Given the description of an element on the screen output the (x, y) to click on. 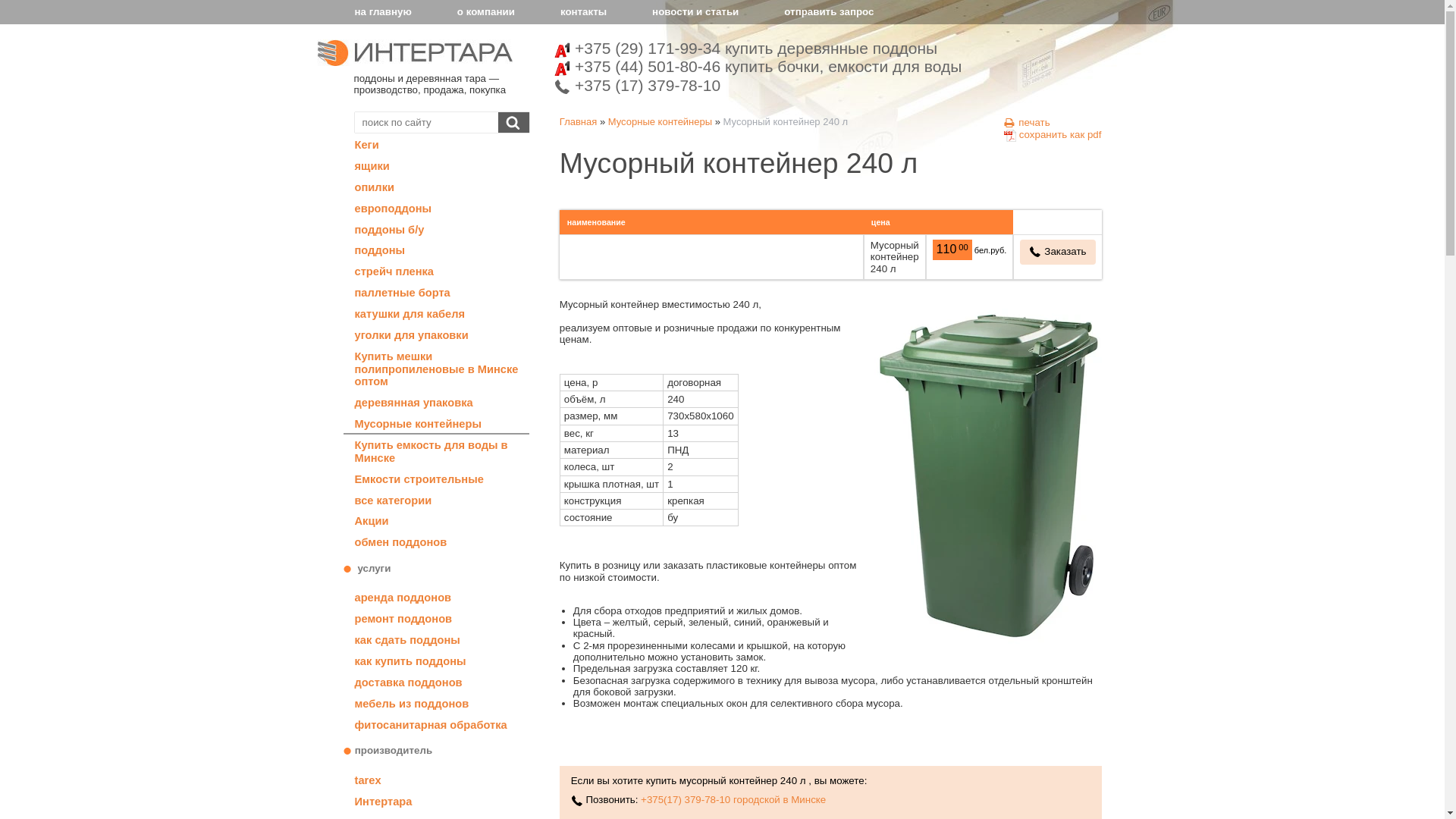
+375 (17) 379-78-10 Element type: text (757, 85)
tarex Element type: text (435, 778)
